Given the description of an element on the screen output the (x, y) to click on. 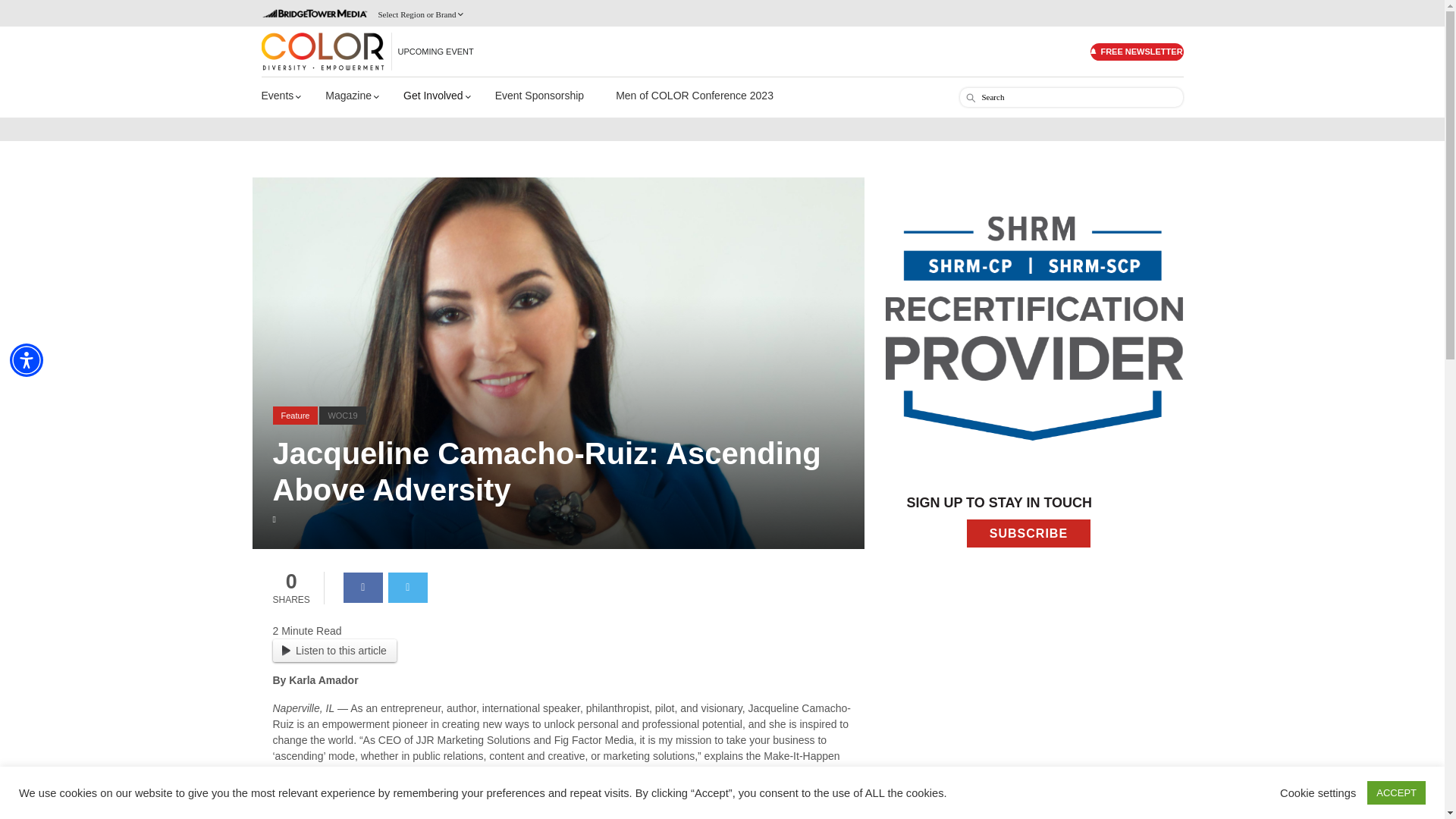
Accessibility Menu (26, 359)
